Given the description of an element on the screen output the (x, y) to click on. 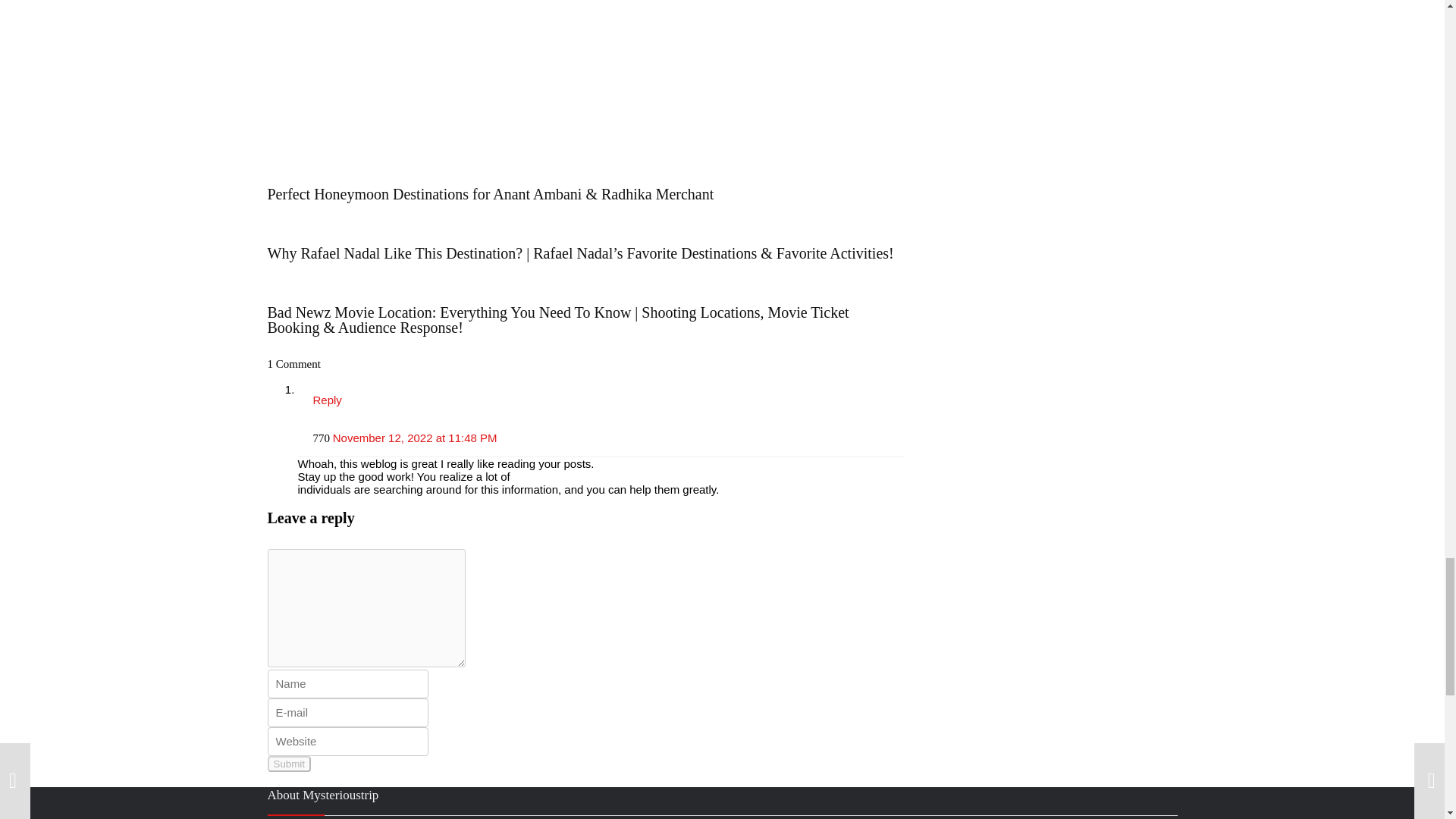
Submit (288, 763)
